Given the description of an element on the screen output the (x, y) to click on. 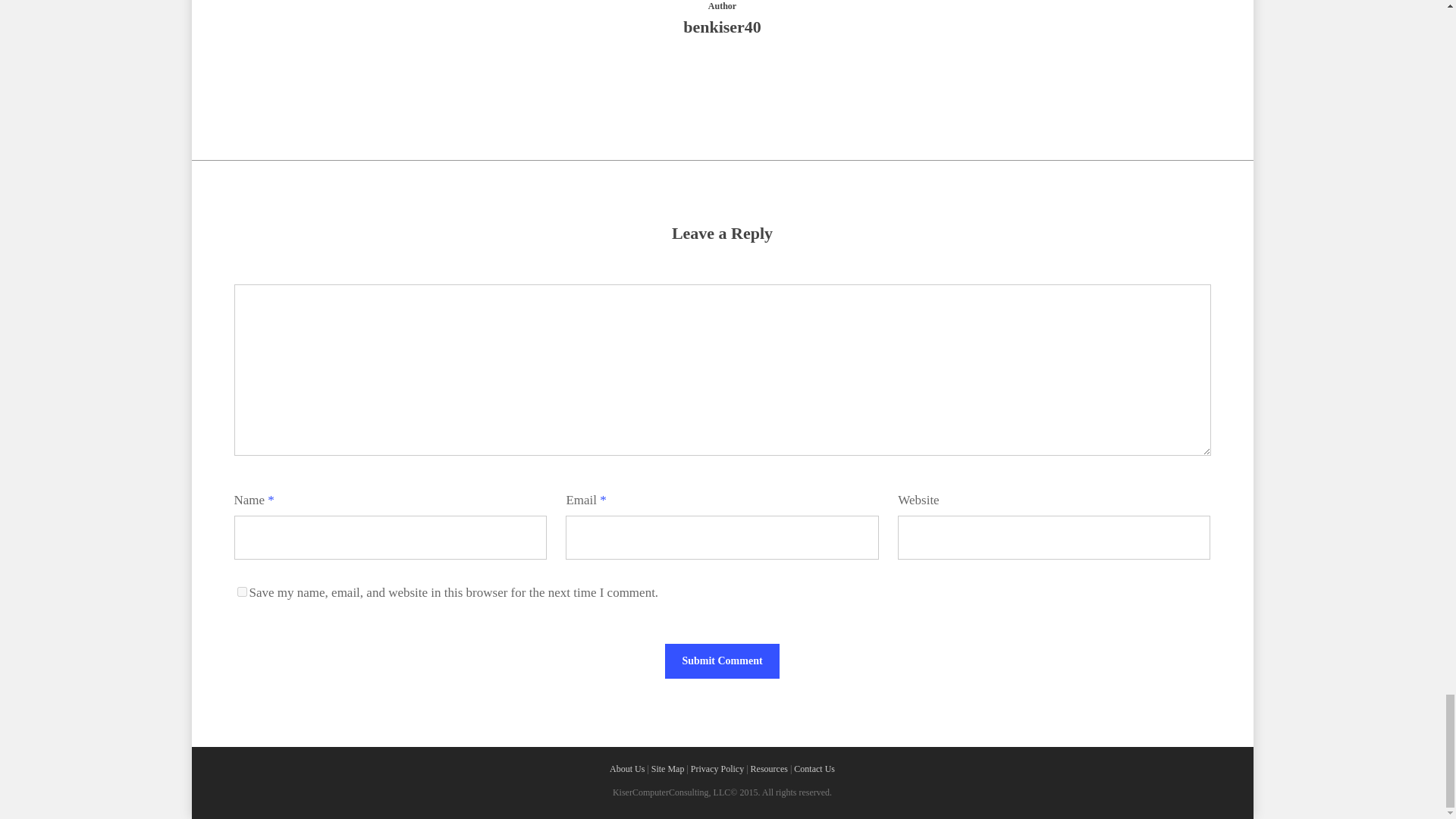
More posts by benkiser40 (721, 79)
Submit Comment (721, 660)
About Us (627, 768)
Products and Resources (769, 768)
Submit Comment (721, 660)
Contact Us (813, 768)
Site Map (667, 768)
yes (240, 592)
Resources (769, 768)
Site Map (667, 768)
